Given the description of an element on the screen output the (x, y) to click on. 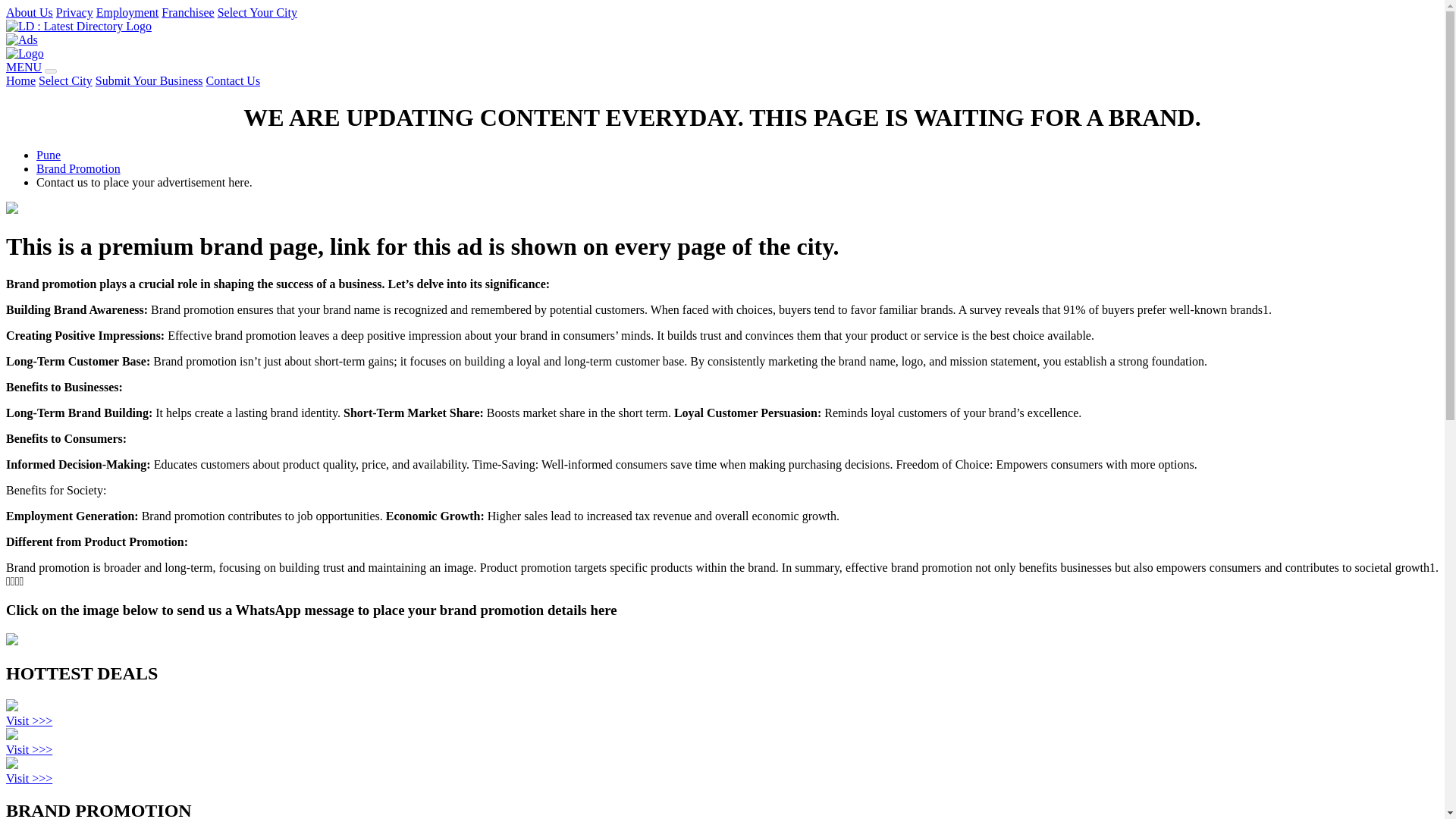
About Us (28, 11)
Franchisee (187, 11)
MENU (23, 66)
Pune (48, 154)
Employment (127, 11)
Home (19, 80)
Select City (66, 80)
Brand Promotion (78, 168)
Submit Your Business (149, 80)
Privacy (74, 11)
Select Your City (256, 11)
Contact Us (233, 80)
